Given the description of an element on the screen output the (x, y) to click on. 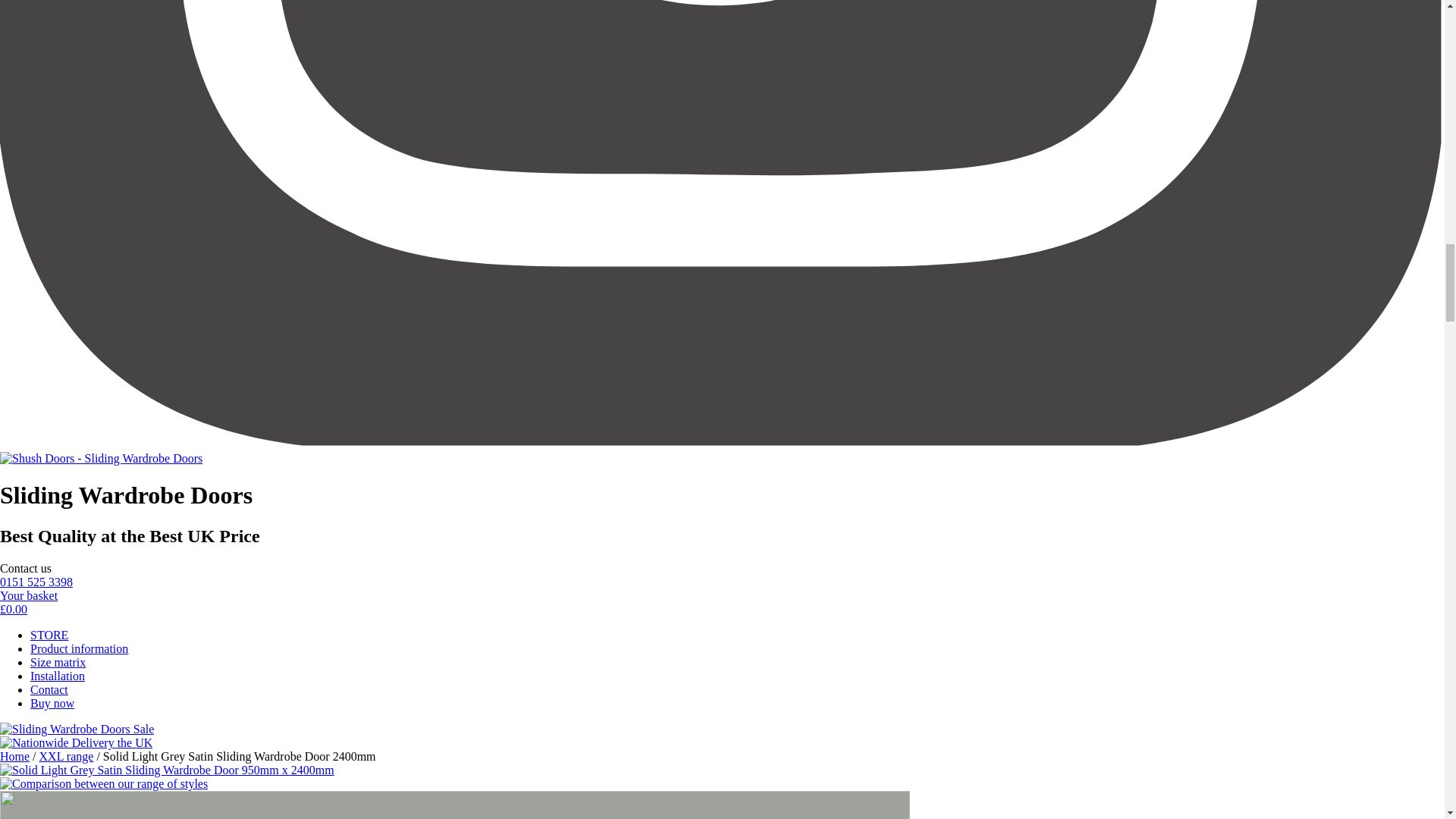
STORE (49, 634)
0151 525 3398 (36, 581)
Contact (49, 689)
Buy now (52, 703)
Installation (57, 675)
XXL range (66, 756)
Product information (79, 648)
Home (14, 756)
Size matrix (57, 662)
